Given the description of an element on the screen output the (x, y) to click on. 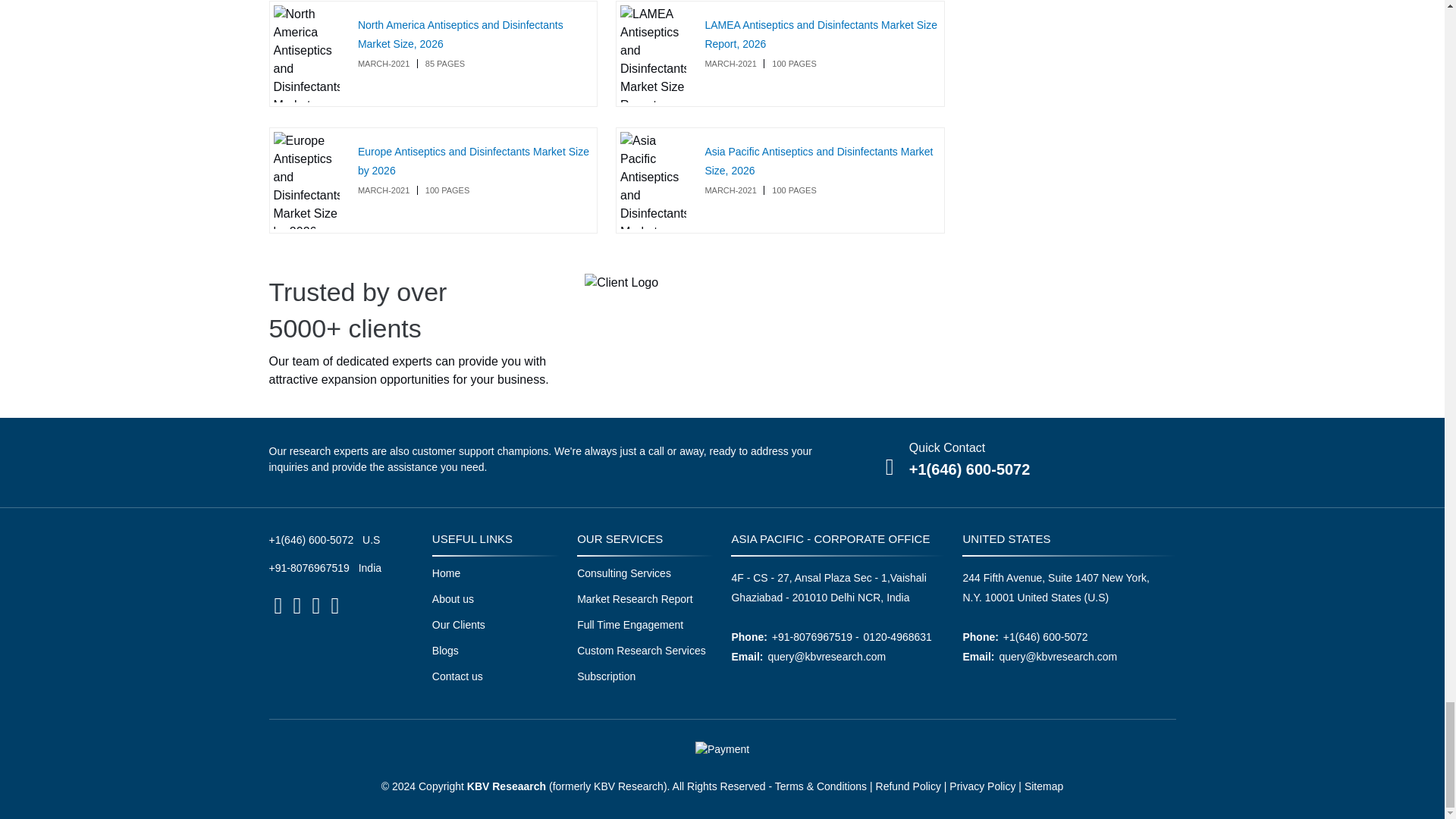
LAMEA Antiseptics and Disinfectants Market Size Report, 2026 (820, 33)
Asia Pacific Antiseptics and Disinfectants Market Size, 2026 (818, 160)
Client Logo (621, 282)
Europe Antiseptics and Disinfectants Market Size by 2026 (473, 160)
